Given the description of an element on the screen output the (x, y) to click on. 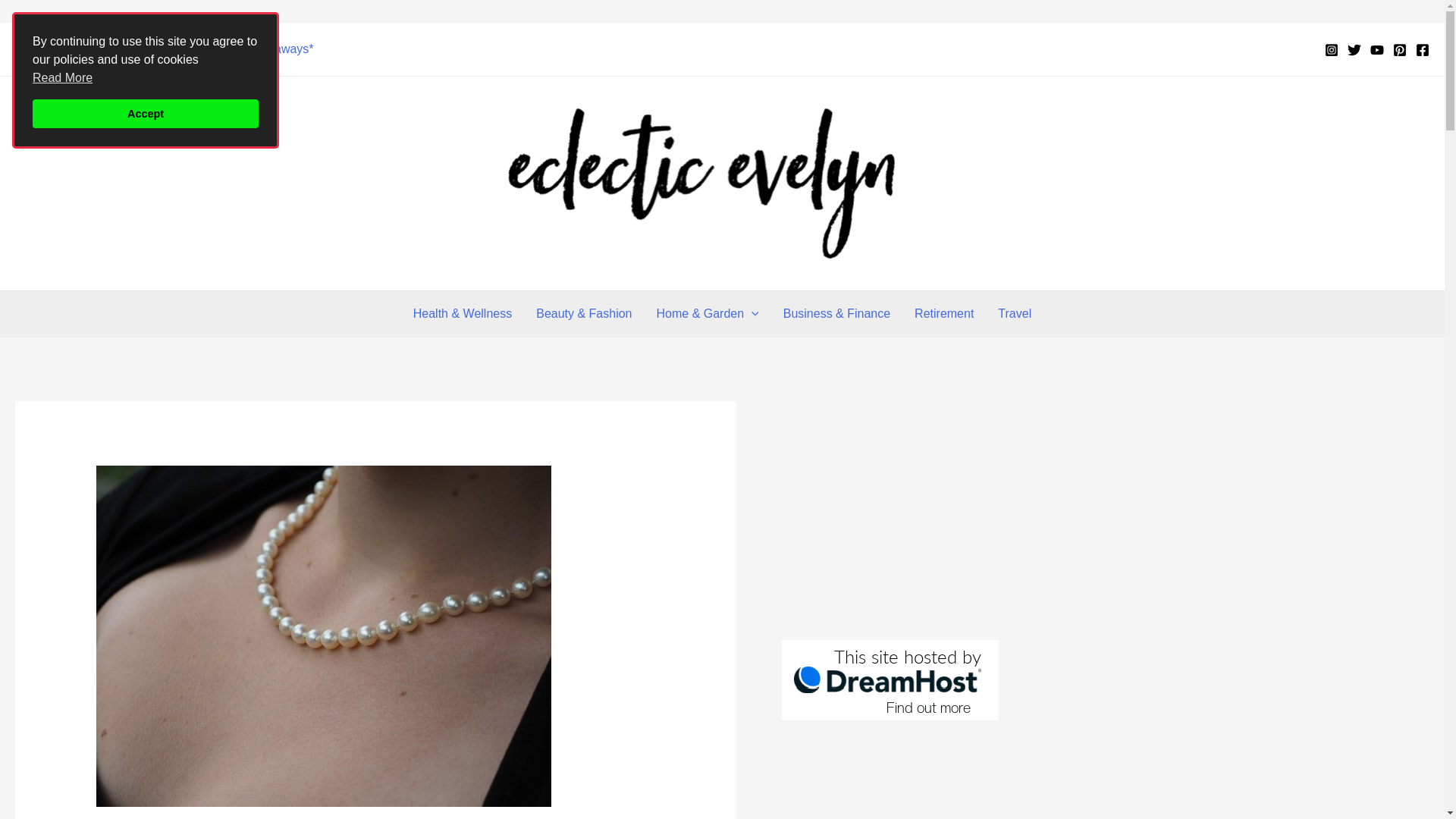
Read More (62, 77)
About (138, 48)
Travel (1014, 313)
Accept (145, 113)
Retirement (943, 313)
Work with Us (62, 48)
Contact (199, 48)
